Given the description of an element on the screen output the (x, y) to click on. 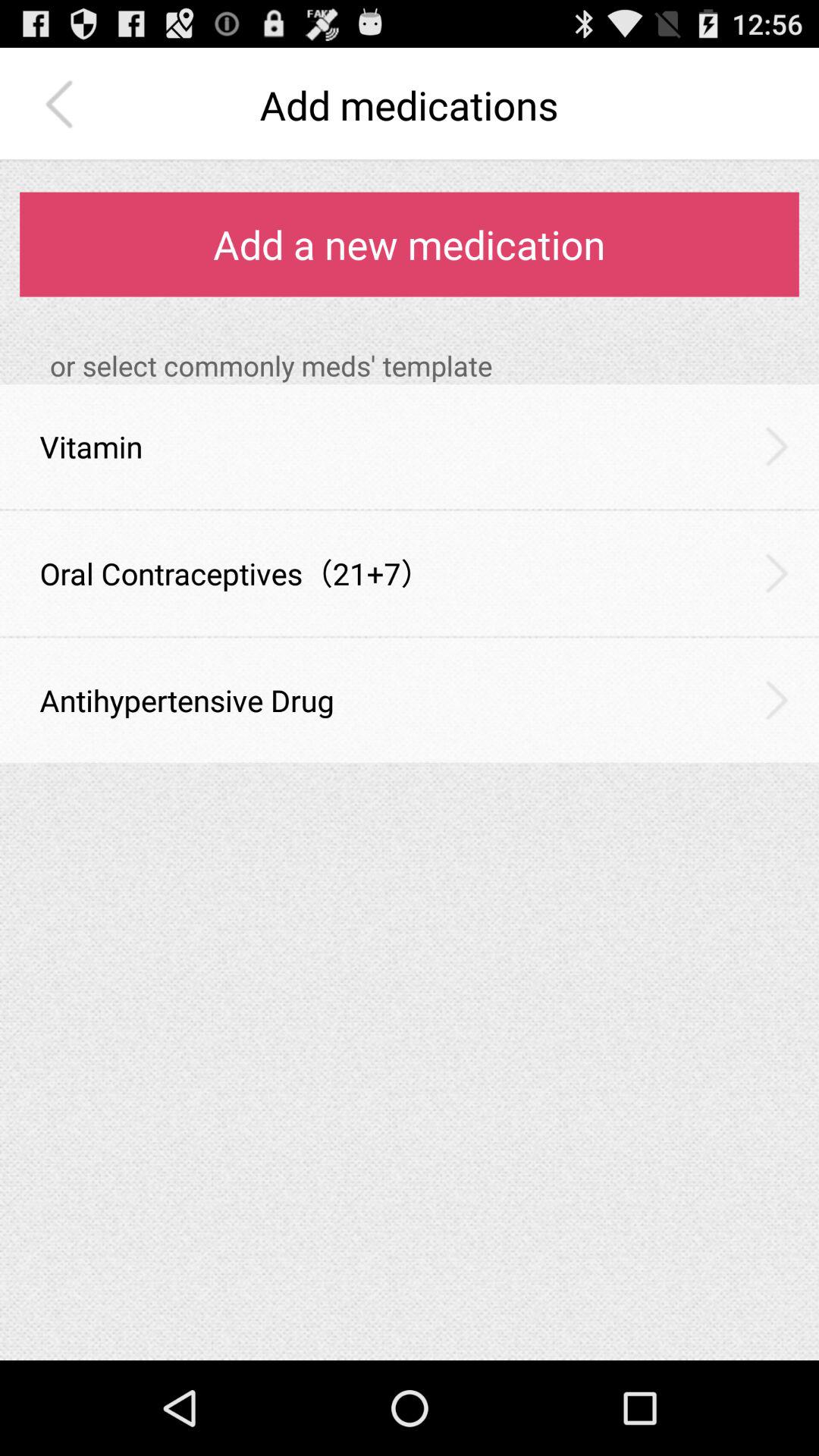
launch or select commonly app (424, 365)
